Given the description of an element on the screen output the (x, y) to click on. 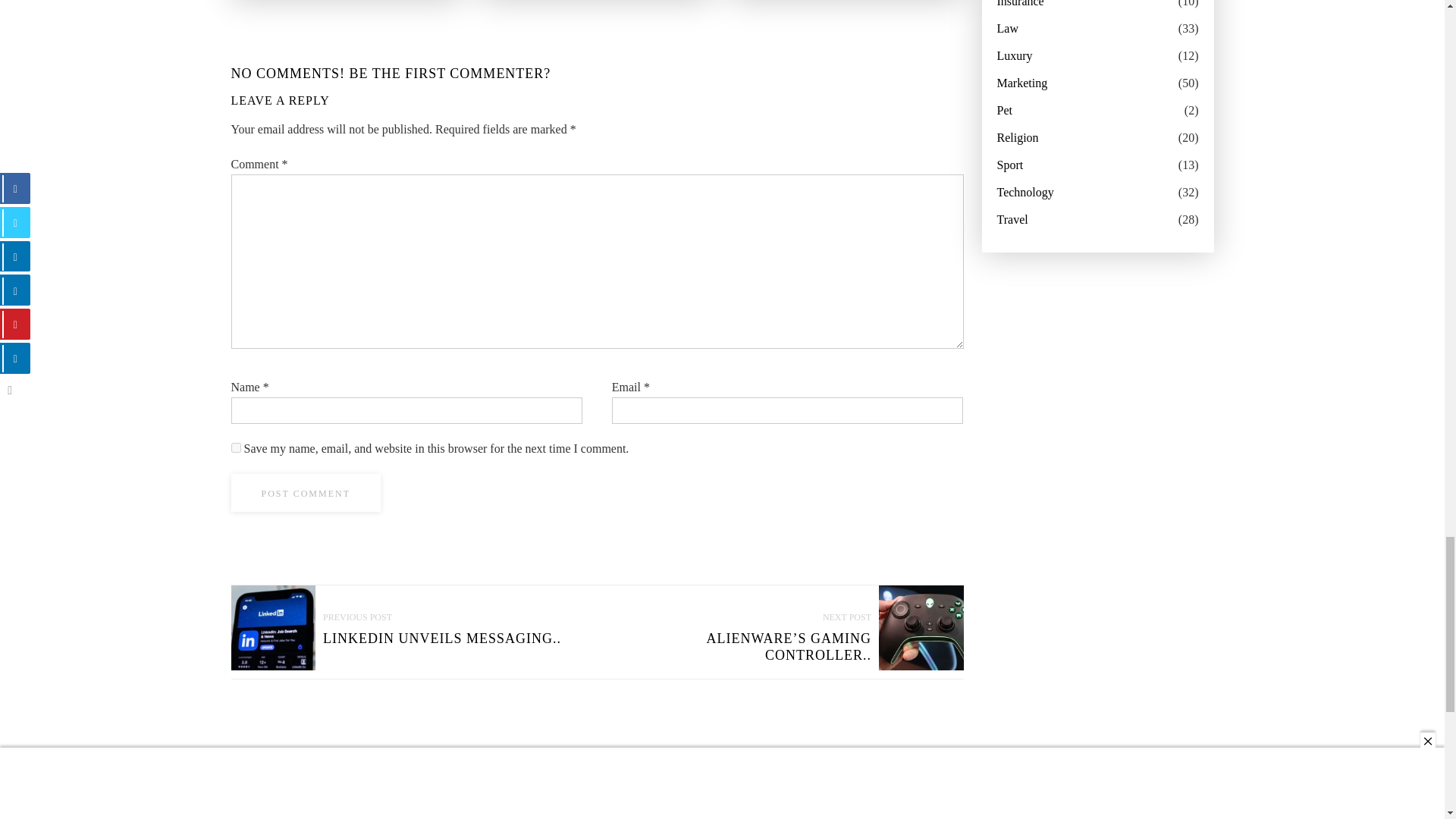
Post Comment (305, 492)
yes (235, 447)
